Given the description of an element on the screen output the (x, y) to click on. 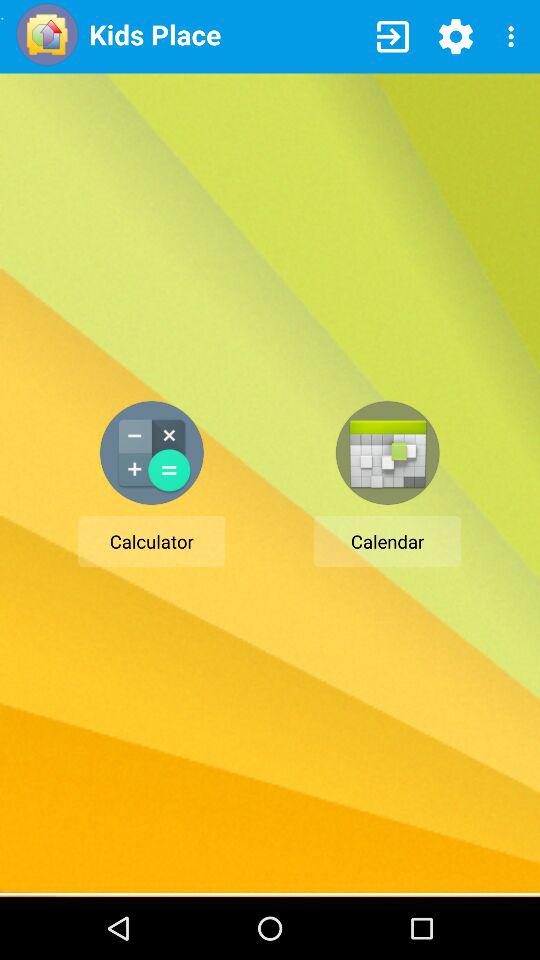
press item to the right of kids place (392, 36)
